Given the description of an element on the screen output the (x, y) to click on. 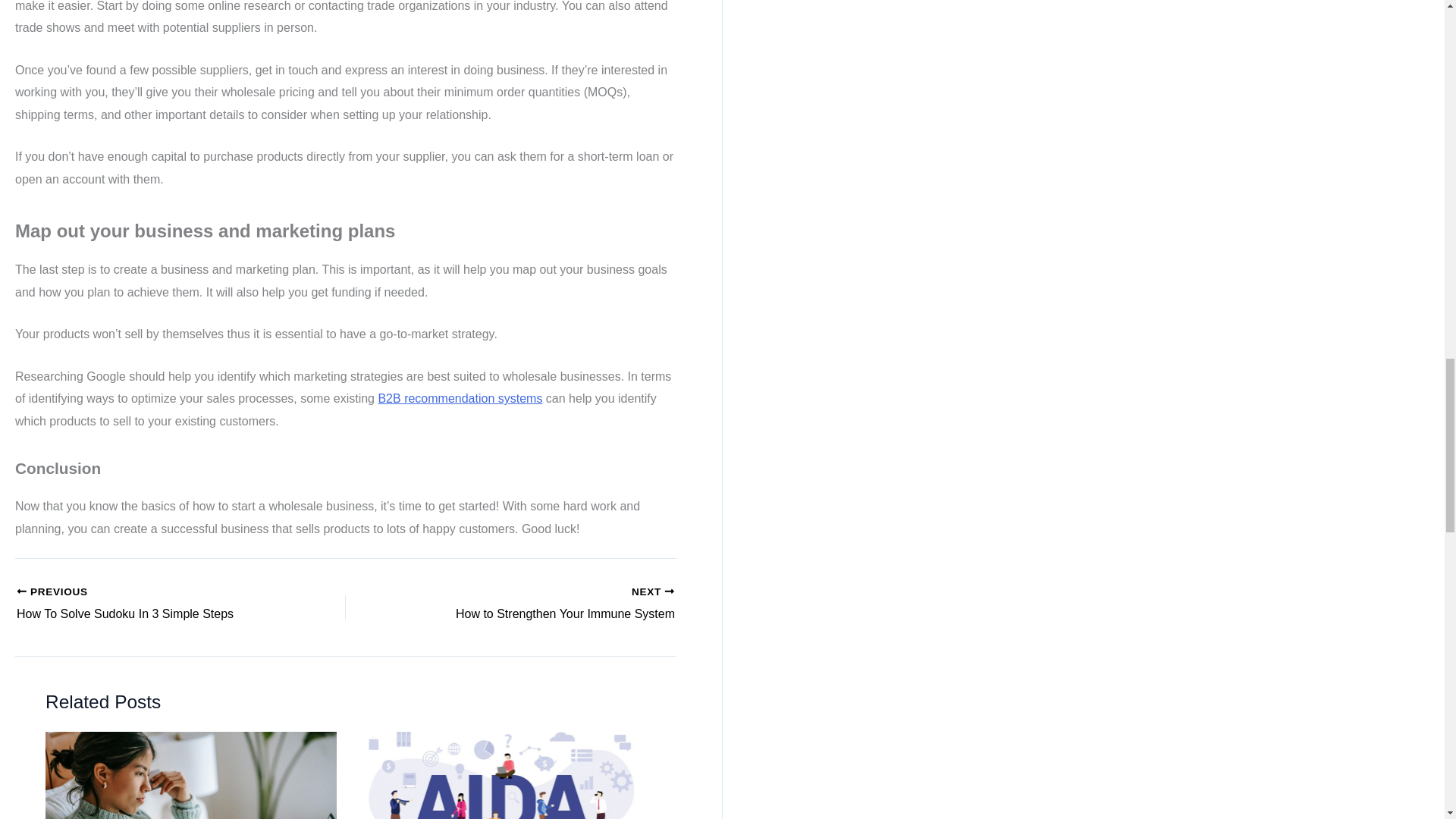
How To Solve Sudoku In 3 Simple Steps (148, 604)
How to Strengthen Your Immune System (148, 604)
B2B recommendation systems (542, 604)
